Given the description of an element on the screen output the (x, y) to click on. 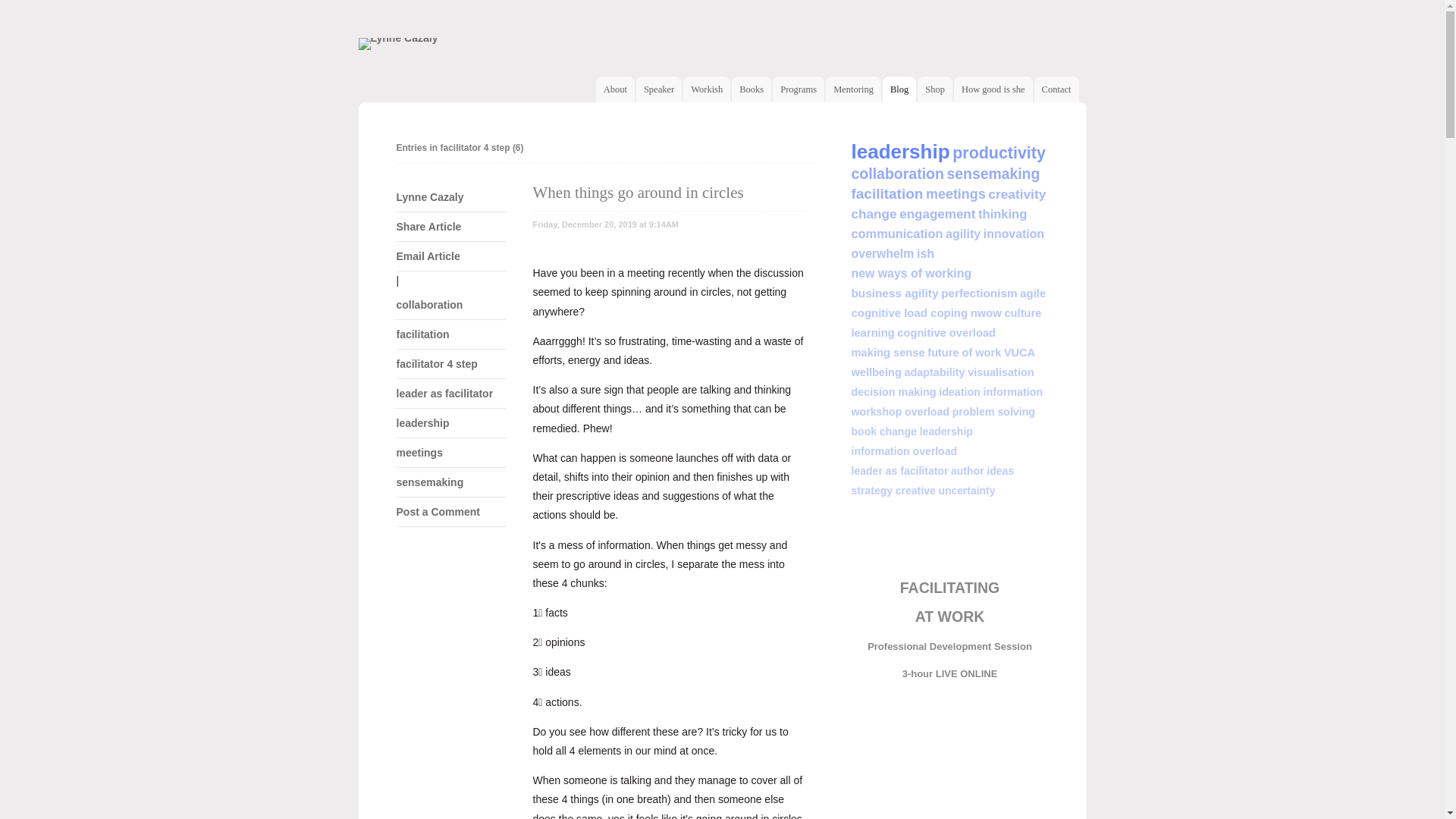
Programs Element type: text (798, 89)
ish Element type: text (925, 254)
strategy Element type: text (871, 491)
workshop Element type: text (875, 412)
agility Element type: text (962, 234)
information overload Element type: text (903, 451)
engagement Element type: text (937, 215)
thinking Element type: text (1002, 215)
overwhelm Element type: text (881, 254)
Mentoring Element type: text (853, 89)
agile Element type: text (1032, 294)
collaboration Element type: text (450, 305)
wellbeing Element type: text (875, 372)
Lynne Cazaly Element type: hover (397, 43)
culture Element type: text (1022, 313)
leader as facilitator Element type: text (450, 393)
About Element type: text (615, 89)
facilitation Element type: text (450, 334)
change leadership Element type: text (925, 432)
visualisation Element type: text (1000, 372)
How good is she Element type: text (992, 89)
nwow Element type: text (985, 313)
When things go around in circles  Element type: text (639, 192)
leadership Element type: text (899, 152)
Books Element type: text (751, 89)
creative Element type: text (915, 491)
cognitive overload Element type: text (946, 333)
meetings Element type: text (450, 452)
Blog Element type: text (899, 89)
Workish Element type: text (706, 89)
Email Article Element type: text (450, 256)
ideation Element type: text (959, 392)
facilitator 4 step Element type: text (450, 364)
new ways of working Element type: text (910, 274)
problem solving Element type: text (993, 412)
Speaker Element type: text (658, 89)
making sense Element type: text (887, 353)
uncertainty Element type: text (966, 491)
future of work Element type: text (964, 353)
Shop Element type: text (934, 89)
perfectionism Element type: text (979, 294)
collaboration Element type: text (896, 175)
leadership Element type: text (450, 423)
overload Element type: text (926, 412)
communication Element type: text (896, 234)
information Element type: text (1013, 392)
creativity Element type: text (1016, 195)
author Element type: text (967, 471)
business agility Element type: text (894, 294)
adaptability Element type: text (933, 372)
Share Article Element type: text (450, 226)
ideas Element type: text (999, 471)
sensemaking Element type: text (993, 175)
change Element type: text (873, 215)
meetings Element type: text (955, 195)
sensemaking Element type: text (450, 482)
learning Element type: text (872, 333)
leader as facilitator Element type: text (898, 471)
facilitation Element type: text (886, 195)
decision making Element type: text (892, 392)
Post a Comment Element type: text (450, 512)
Lynne Cazaly Element type: text (450, 197)
productivity Element type: text (998, 154)
cognitive load coping Element type: text (908, 313)
Contact Element type: text (1056, 89)
book Element type: text (863, 432)
VUCA Element type: text (1019, 353)
innovation Element type: text (1013, 234)
